Given the description of an element on the screen output the (x, y) to click on. 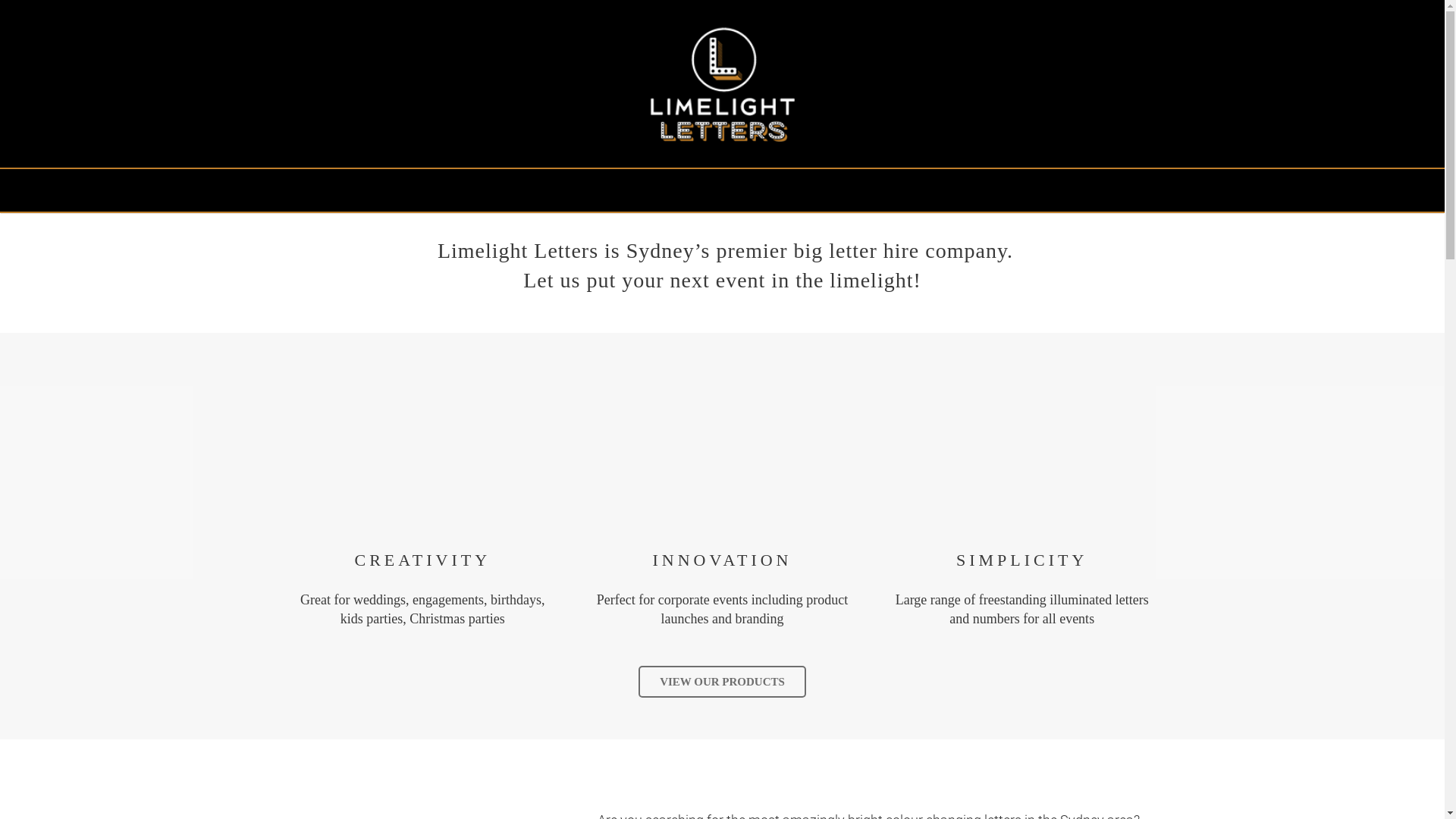
VIEW OUR PRODUCTS Element type: text (722, 681)
